Given the description of an element on the screen output the (x, y) to click on. 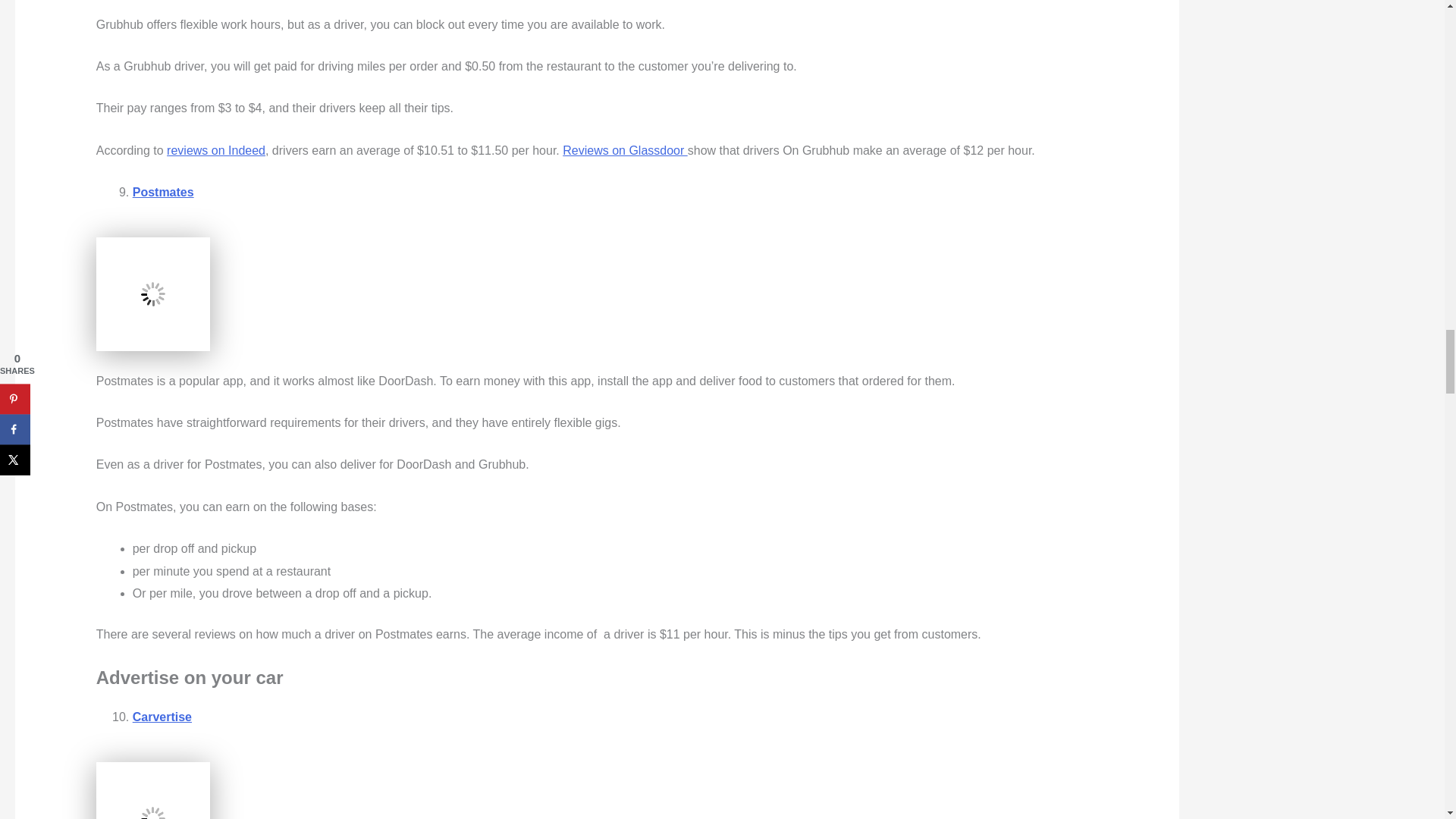
Postmates (162, 192)
Reviews on Glassdoor (624, 150)
Carvertise (162, 716)
reviews on Indeed (215, 150)
